Given the description of an element on the screen output the (x, y) to click on. 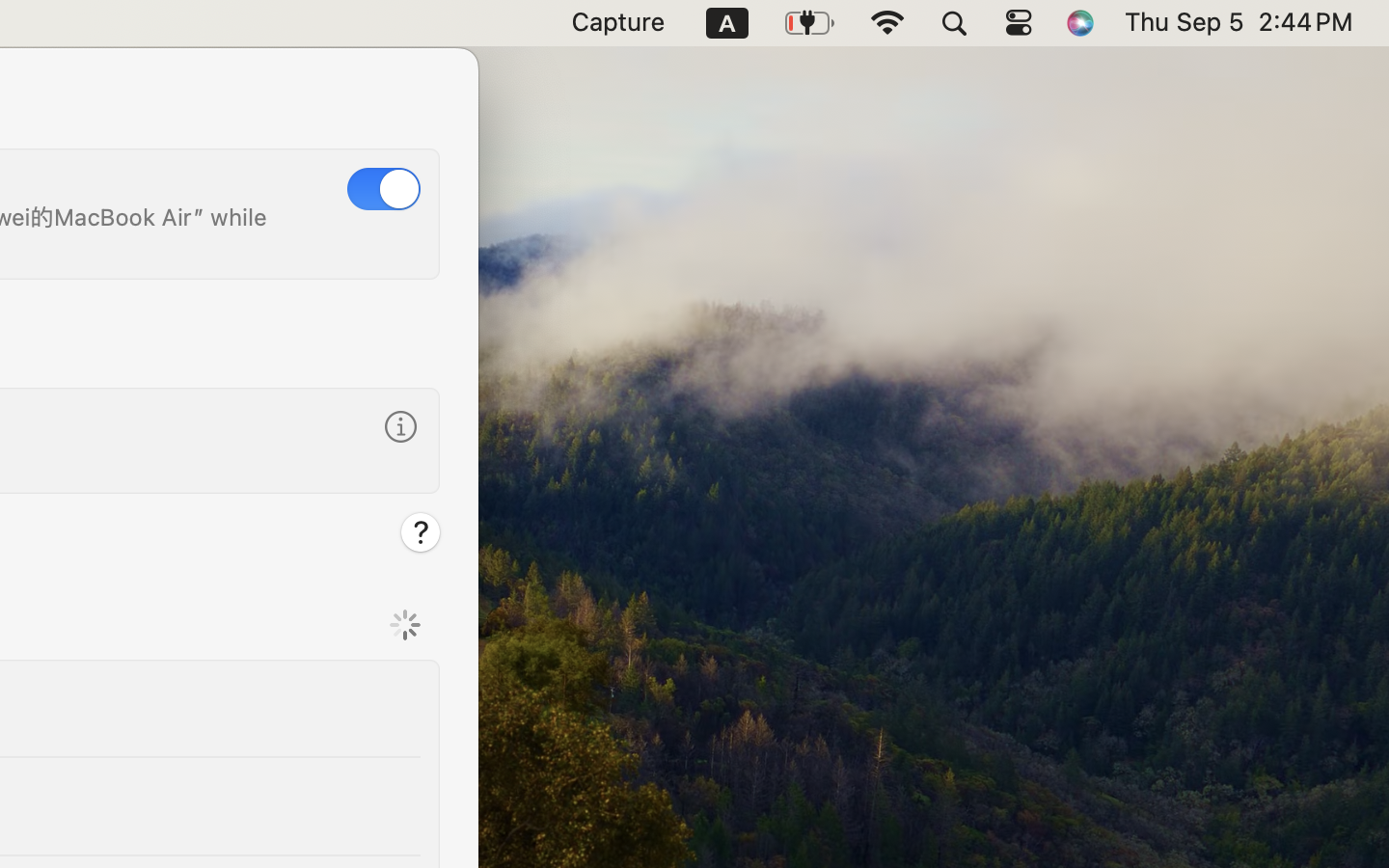
1 Element type: AXCheckBox (383, 188)
